Given the description of an element on the screen output the (x, y) to click on. 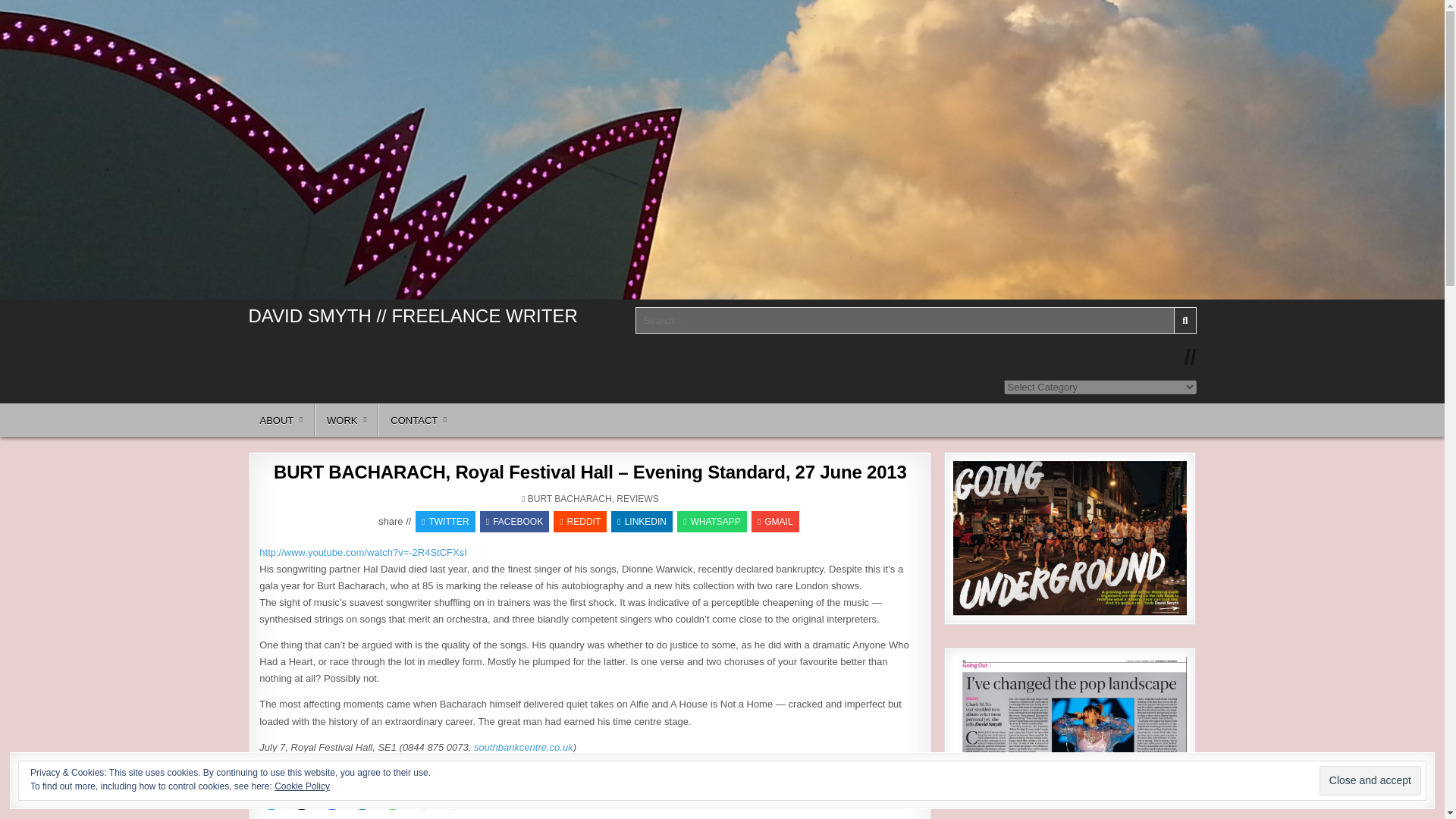
Click to share on WhatsApp (392, 797)
Click to share on Facebook (331, 797)
Share this on Linkedin (641, 521)
Click to print (453, 797)
southbankcentre.co.uk (523, 747)
Share this on Reddit (580, 521)
Click to share on Twitter (271, 797)
southbankcentre.co.uk (523, 747)
REVIEWS (636, 498)
Tweet This! (445, 521)
TWITTER (445, 521)
Click to share on LinkedIn (362, 797)
ABOUT (281, 420)
LINKEDIN (641, 521)
Share this on WhatsApp (711, 521)
